Given the description of an element on the screen output the (x, y) to click on. 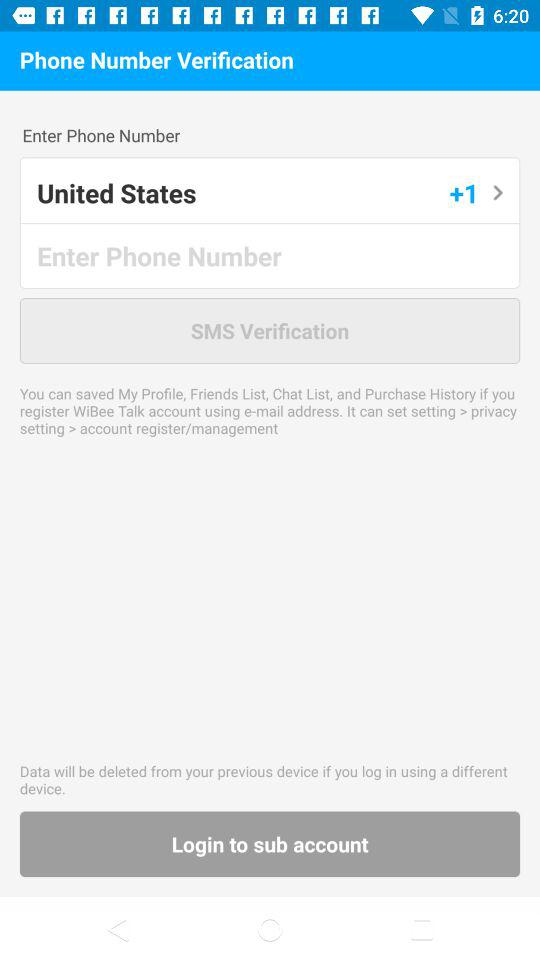
open text box (271, 255)
